Given the description of an element on the screen output the (x, y) to click on. 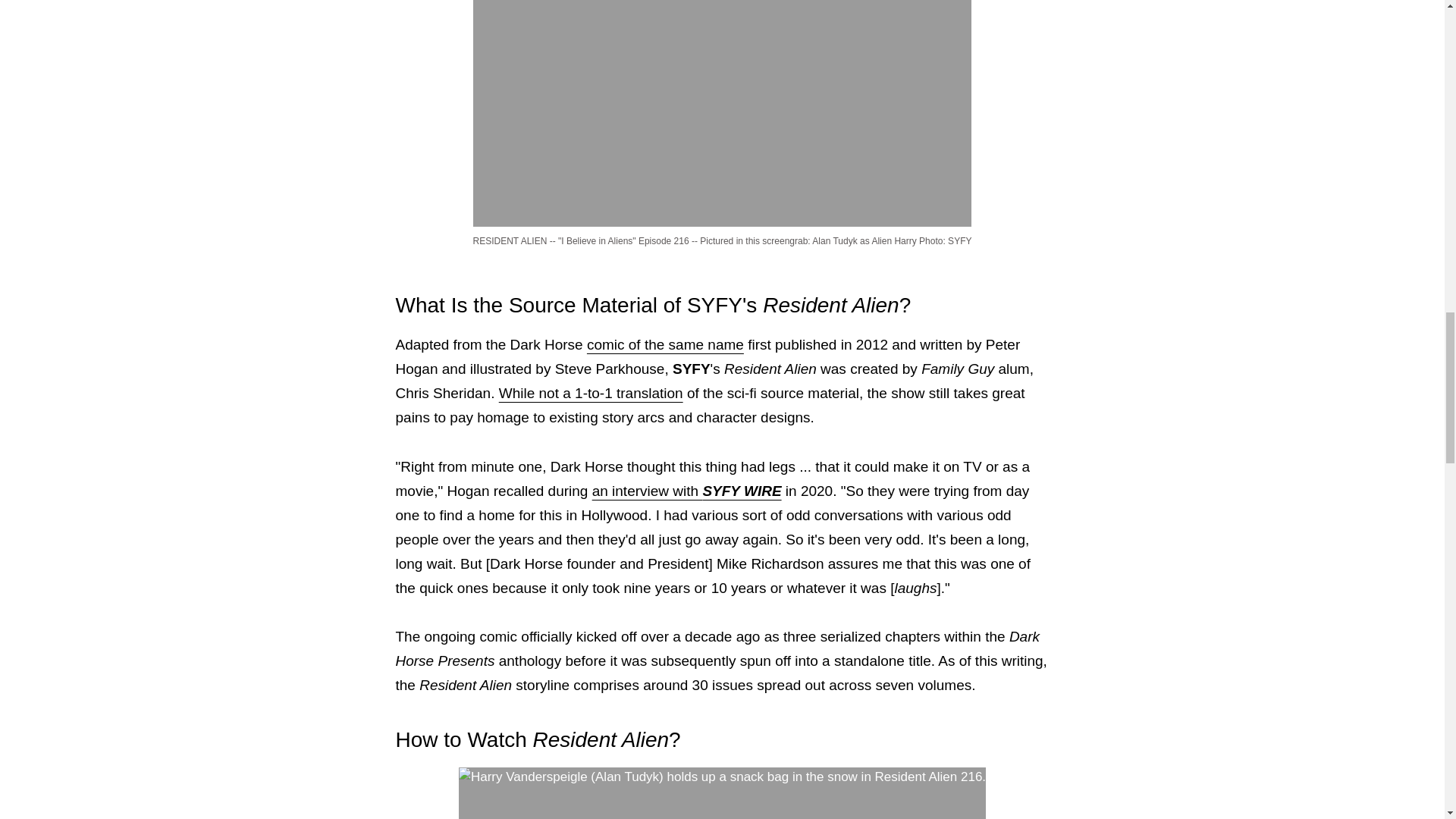
While not a 1-to-1 translation (590, 392)
comic of the same name (665, 344)
an interview with SYFY WIRE (686, 490)
